Given the description of an element on the screen output the (x, y) to click on. 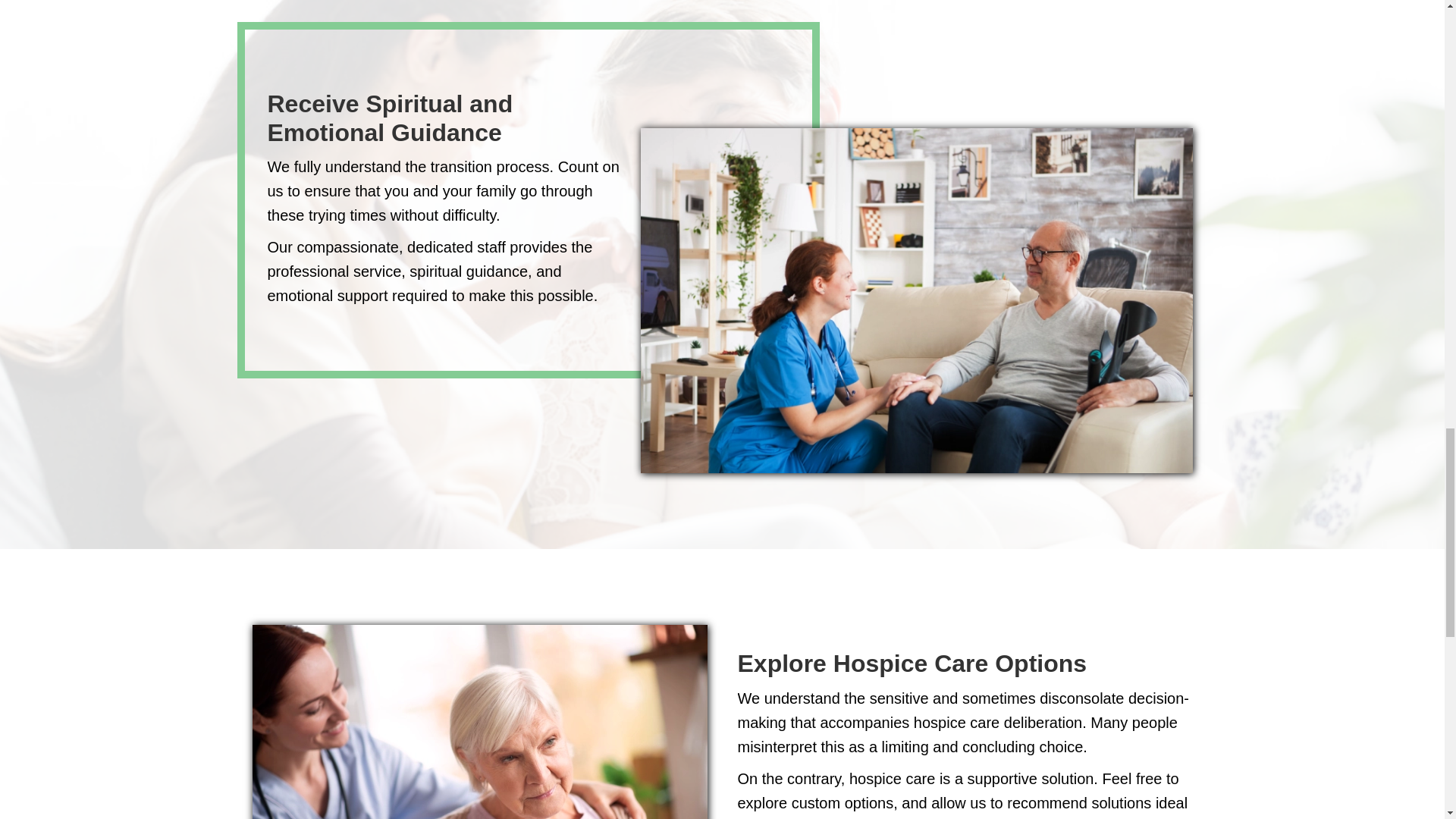
New Project-66 (478, 721)
